Given the description of an element on the screen output the (x, y) to click on. 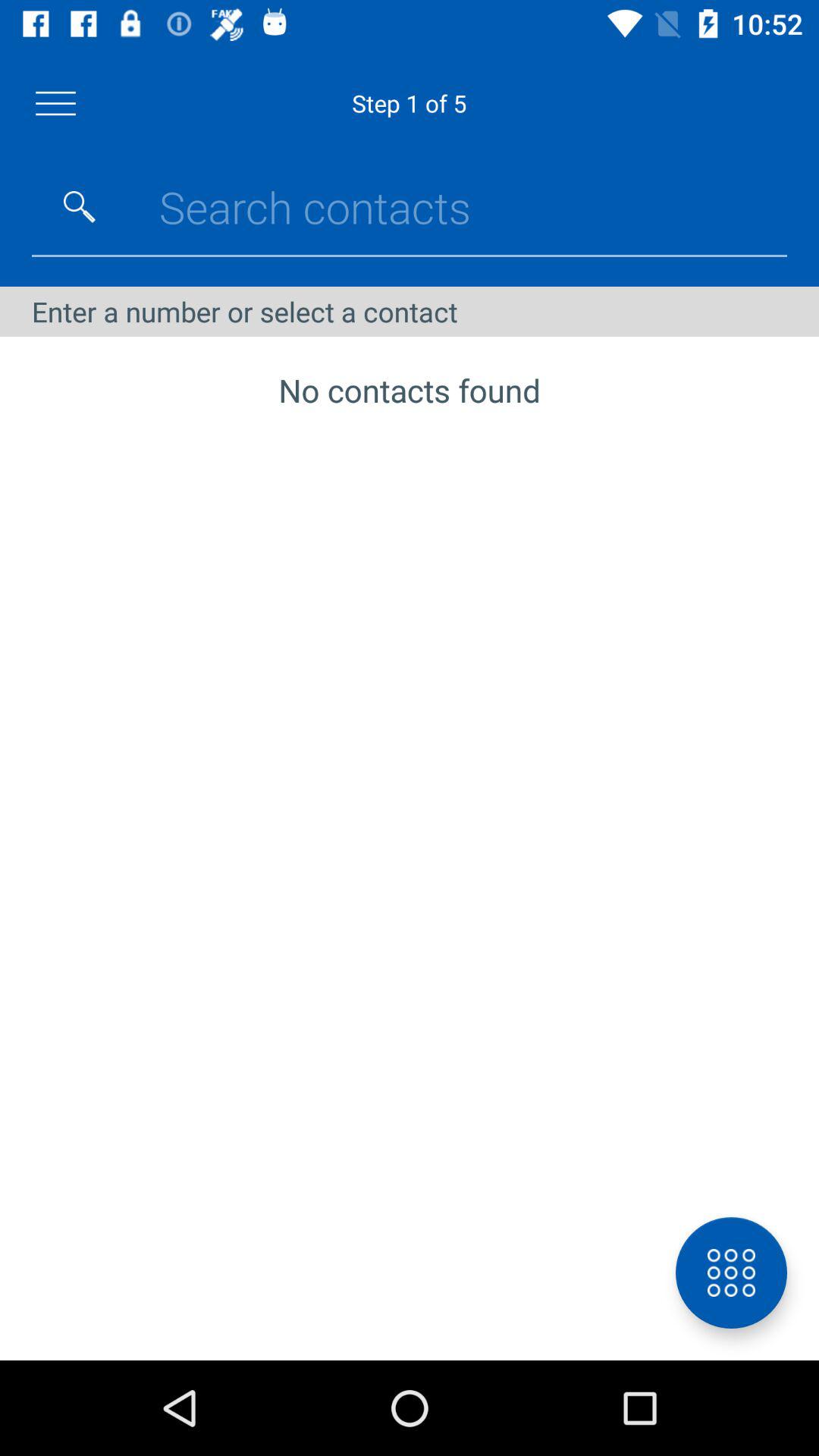
click the menu button (55, 103)
